Given the description of an element on the screen output the (x, y) to click on. 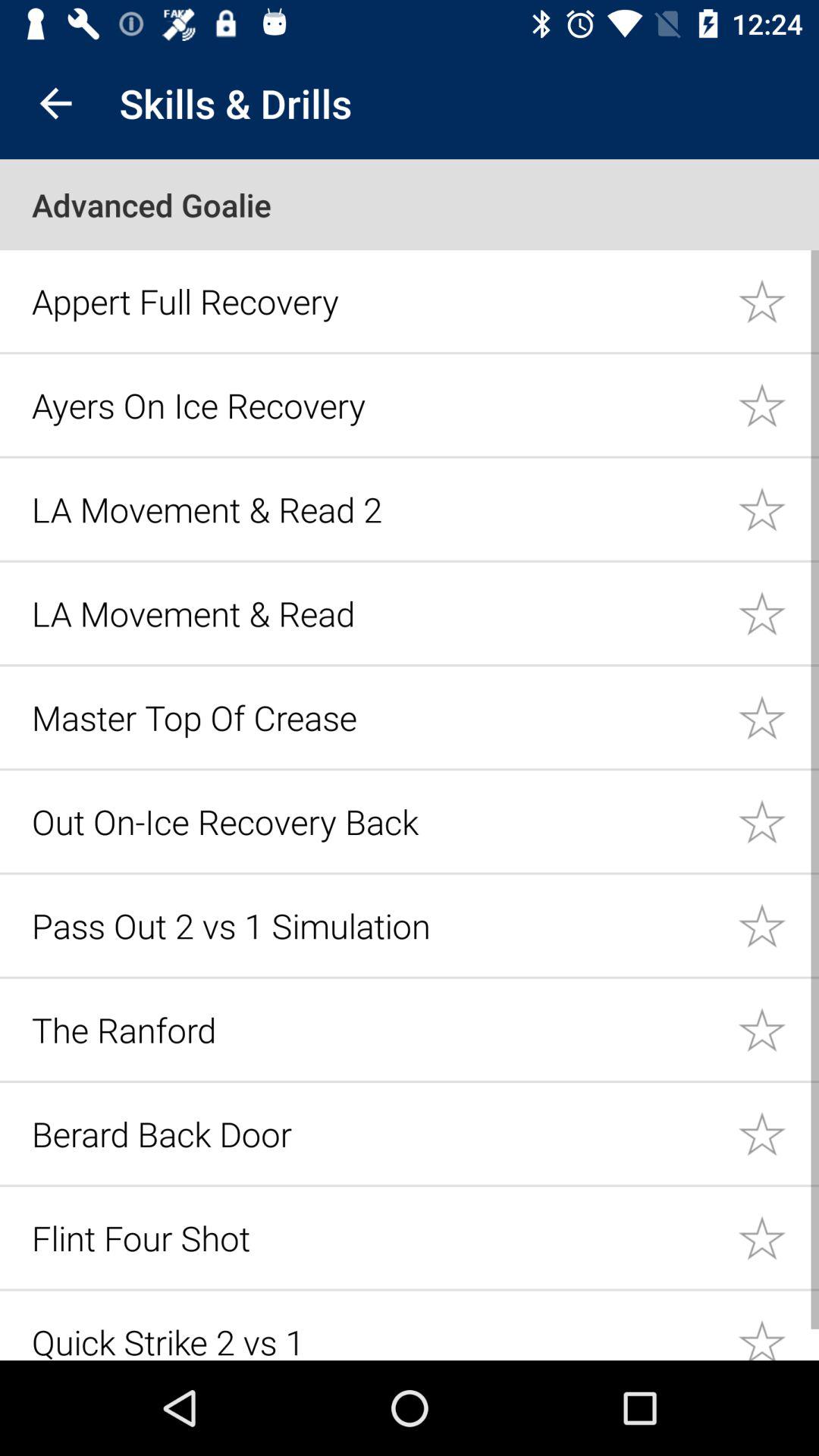
put this option in starred list (778, 821)
